Given the description of an element on the screen output the (x, y) to click on. 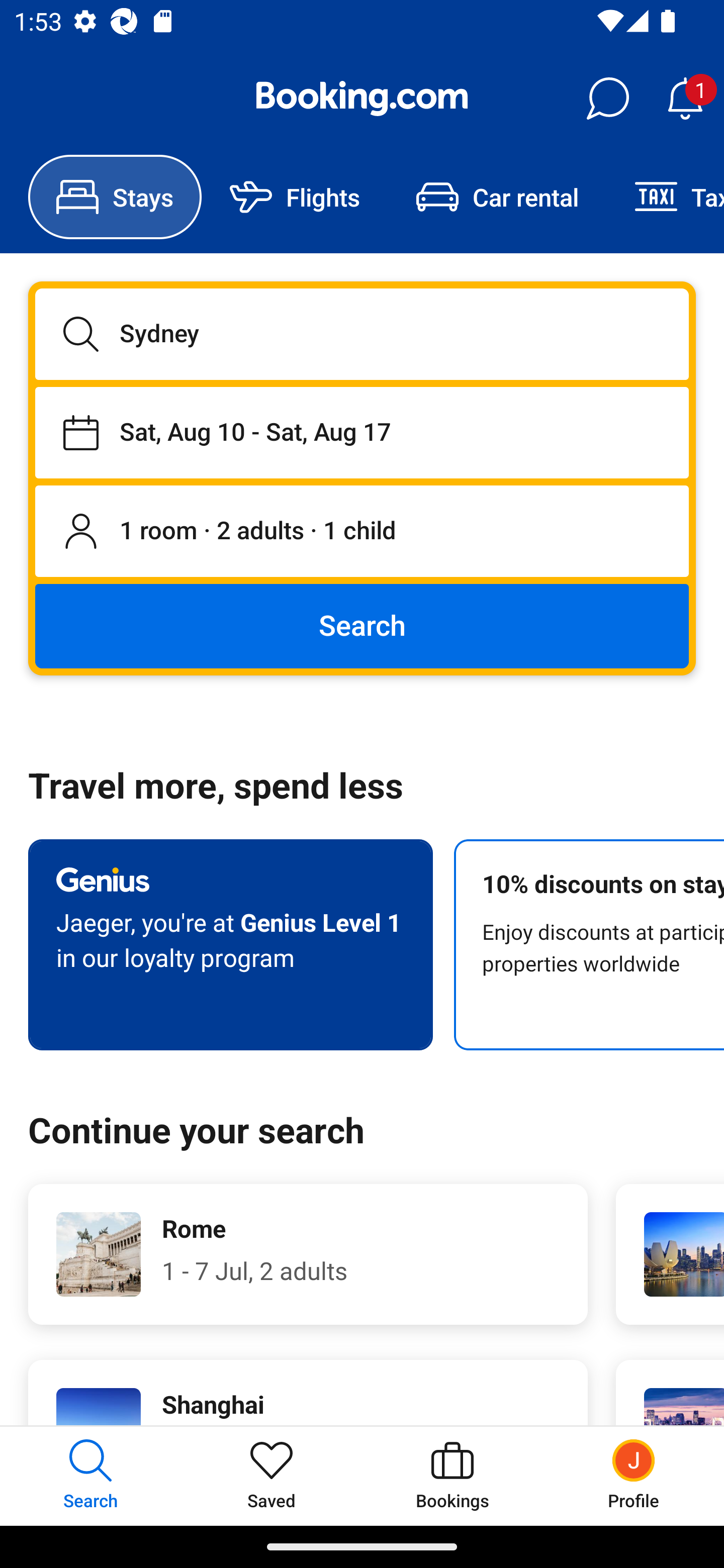
Messages (607, 98)
Notifications (685, 98)
Stays (114, 197)
Flights (294, 197)
Car rental (497, 197)
Taxi (665, 197)
Sydney (361, 333)
Staying from Sat, Aug 10 until Sat, Aug 17 (361, 432)
1 room, 2 adults, 1 child (361, 531)
Search (361, 625)
Rome 1 - 7 Jul, 2 adults (307, 1253)
Saved (271, 1475)
Bookings (452, 1475)
Profile (633, 1475)
